Given the description of an element on the screen output the (x, y) to click on. 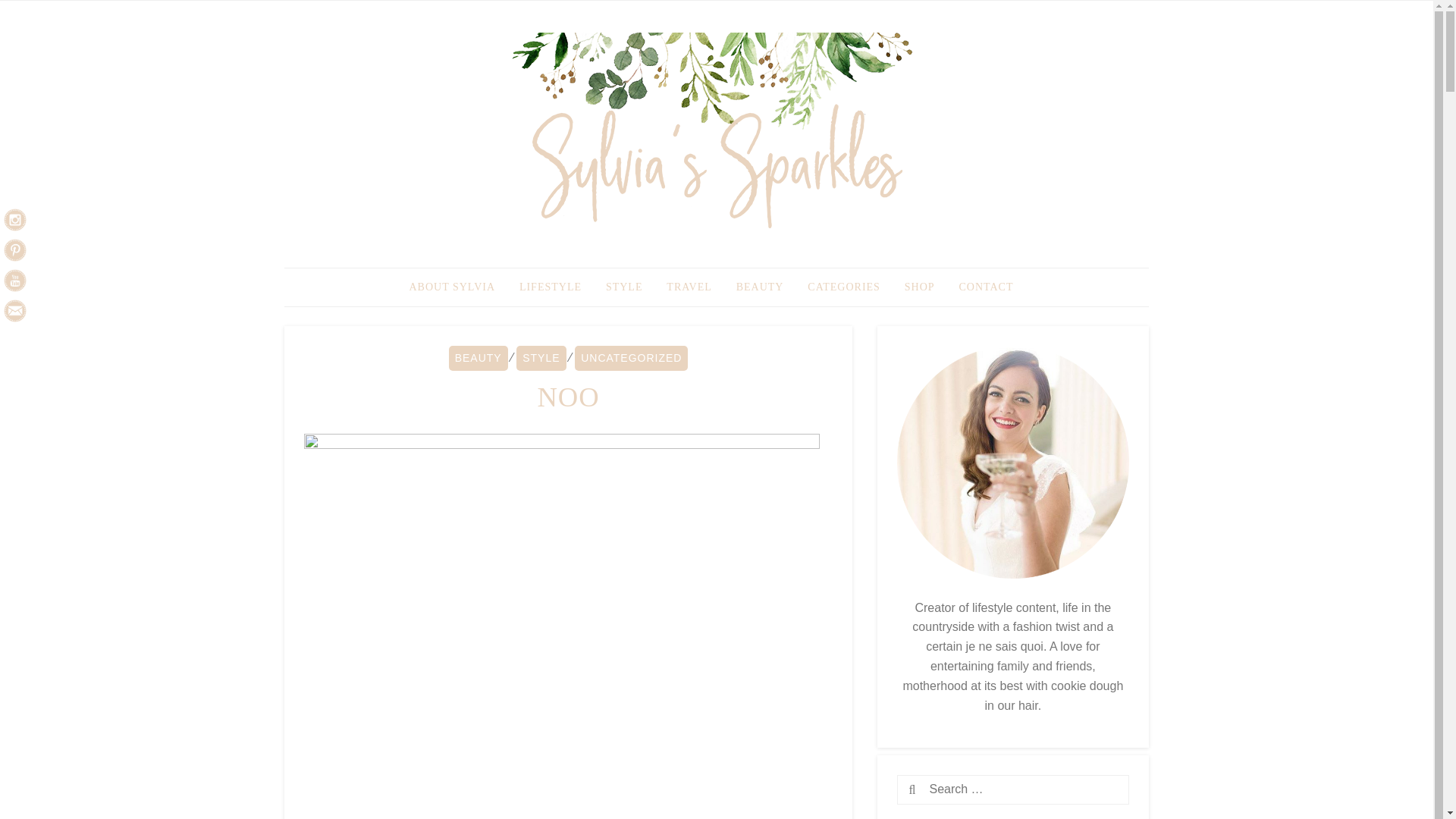
LIFESTYLE (550, 287)
TRAVEL (689, 287)
Search (938, 789)
Search (938, 789)
Click here for my Pinterest (15, 250)
CONTACT (985, 287)
ABOUT SYLVIA (452, 287)
CATEGORIES (843, 287)
Click to Email Me (15, 310)
SHOP (918, 287)
Click here for my Instagram (15, 219)
Click here for my YouTube Channel (15, 280)
STYLE (624, 287)
BEAUTY (759, 287)
